Given the description of an element on the screen output the (x, y) to click on. 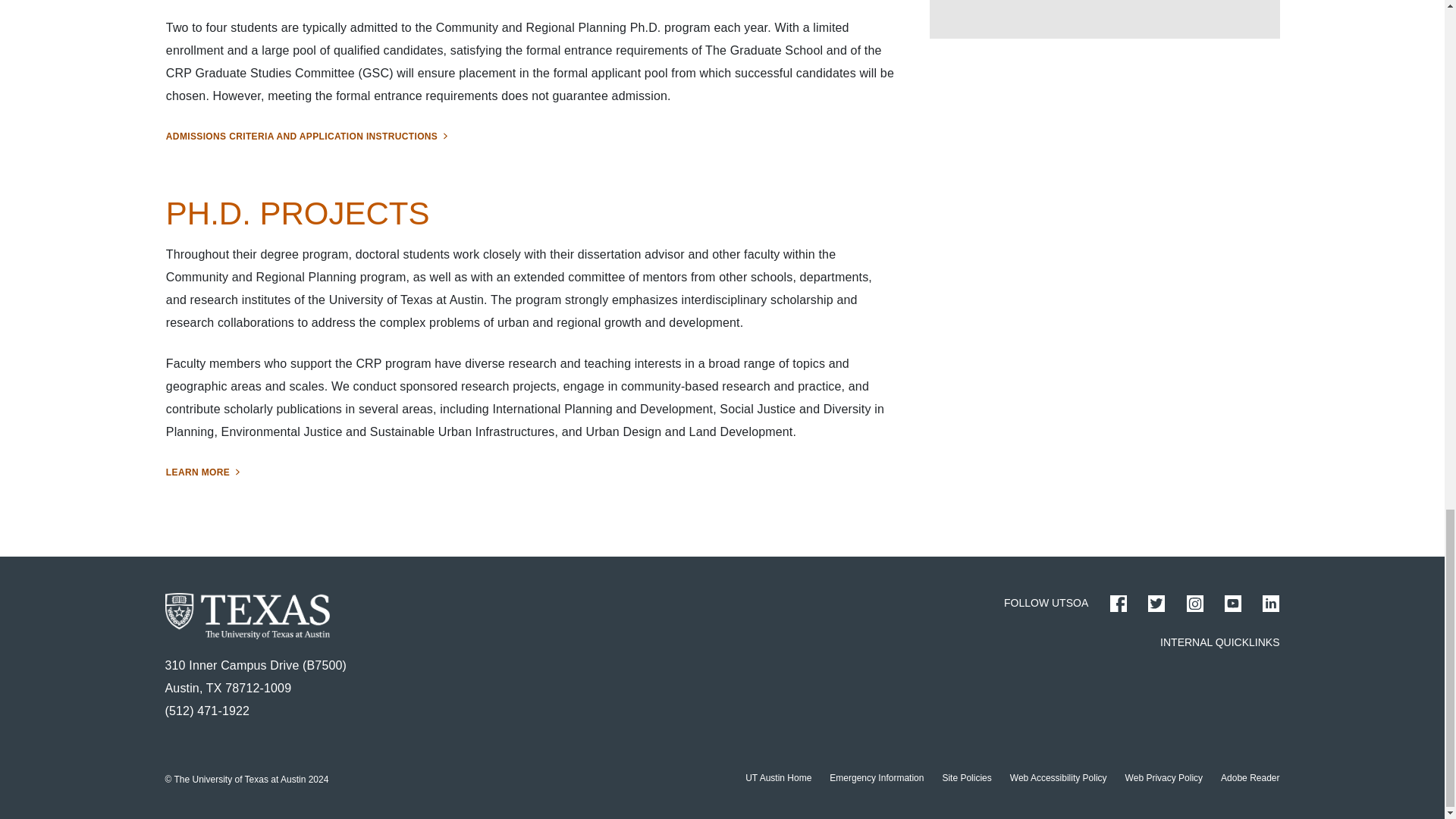
YoutubeSee us on Youtube (1232, 603)
LinkedinFind us on Linkedin (1270, 603)
InstagramSee us on Instagram (1195, 603)
TwitterFind us on Twitter (1156, 603)
FacebookFind us on Facebook (1117, 603)
